Given the description of an element on the screen output the (x, y) to click on. 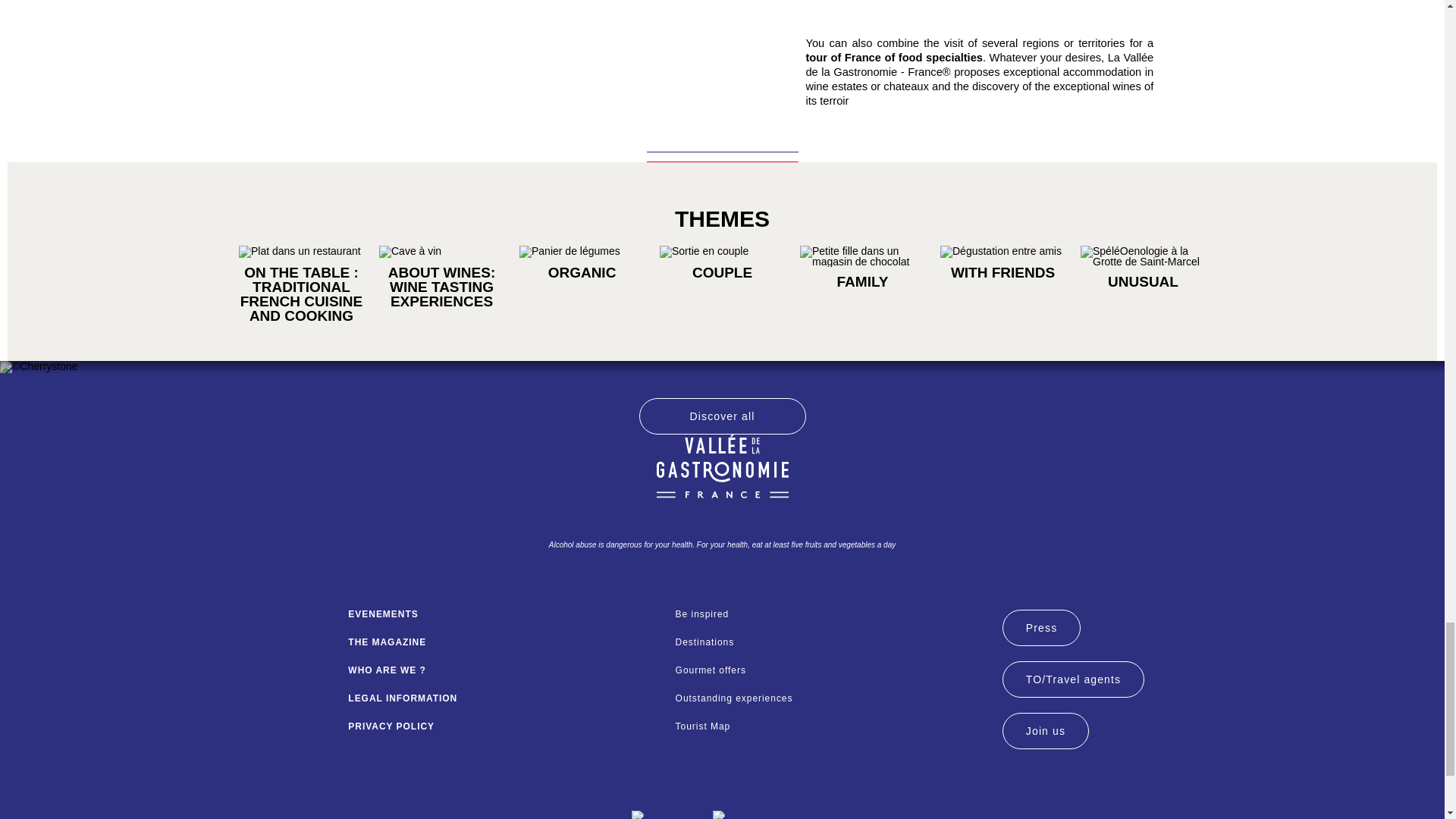
ORGANIC (582, 272)
Tourist Map (831, 726)
COUPLE (721, 272)
Press (1041, 627)
EVENEMENTS (503, 614)
Outstanding experiences (831, 697)
WITH FRIENDS (1002, 272)
WHO ARE WE ? (503, 669)
Discover all (722, 416)
Gourmet offers (831, 669)
LEGAL INFORMATION (503, 697)
UNUSUAL (1142, 281)
ON THE TABLE : TRADITIONAL FRENCH CUISINE AND COOKING (301, 293)
Be inspired (831, 614)
FAMILY (861, 281)
